Given the description of an element on the screen output the (x, y) to click on. 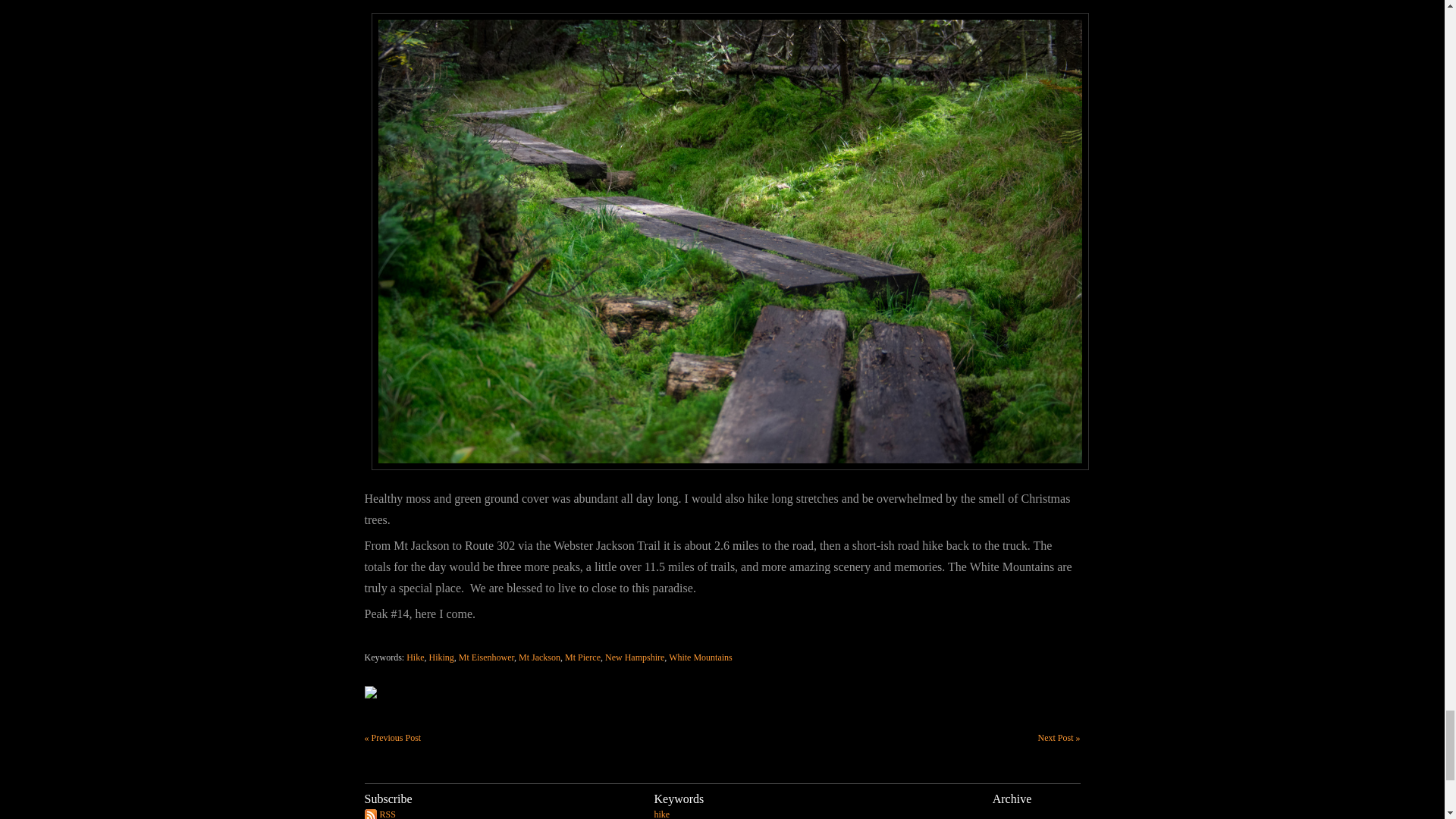
Mt Eisenhower (485, 656)
Mt Pierce (581, 656)
New Hampshire (634, 656)
Hiking (441, 656)
Hike (414, 656)
Mt Jackson (539, 656)
